Given the description of an element on the screen output the (x, y) to click on. 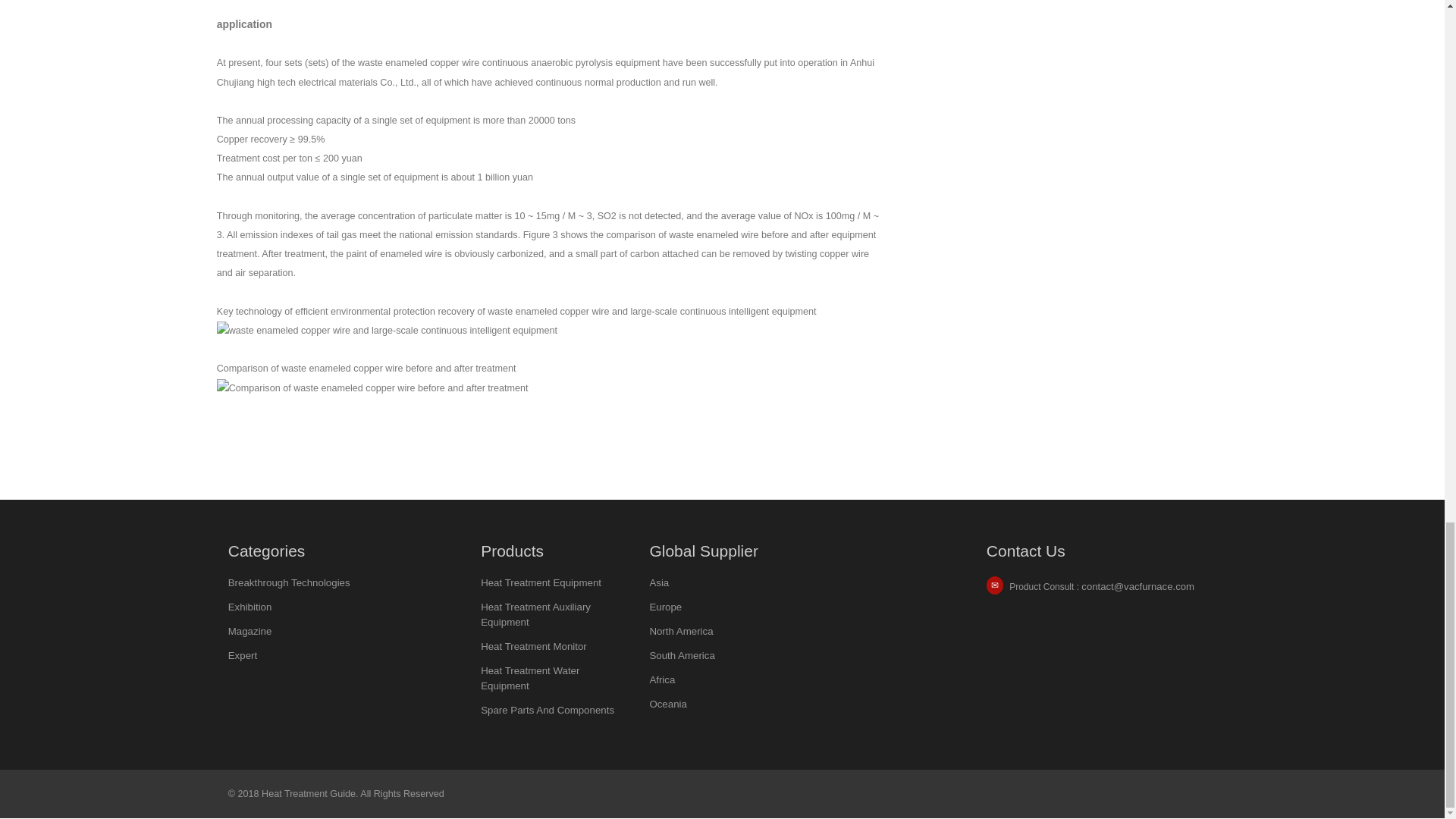
Exhibition (250, 606)
Magazine (250, 631)
Breakthrough Technologies (289, 582)
